Given the description of an element on the screen output the (x, y) to click on. 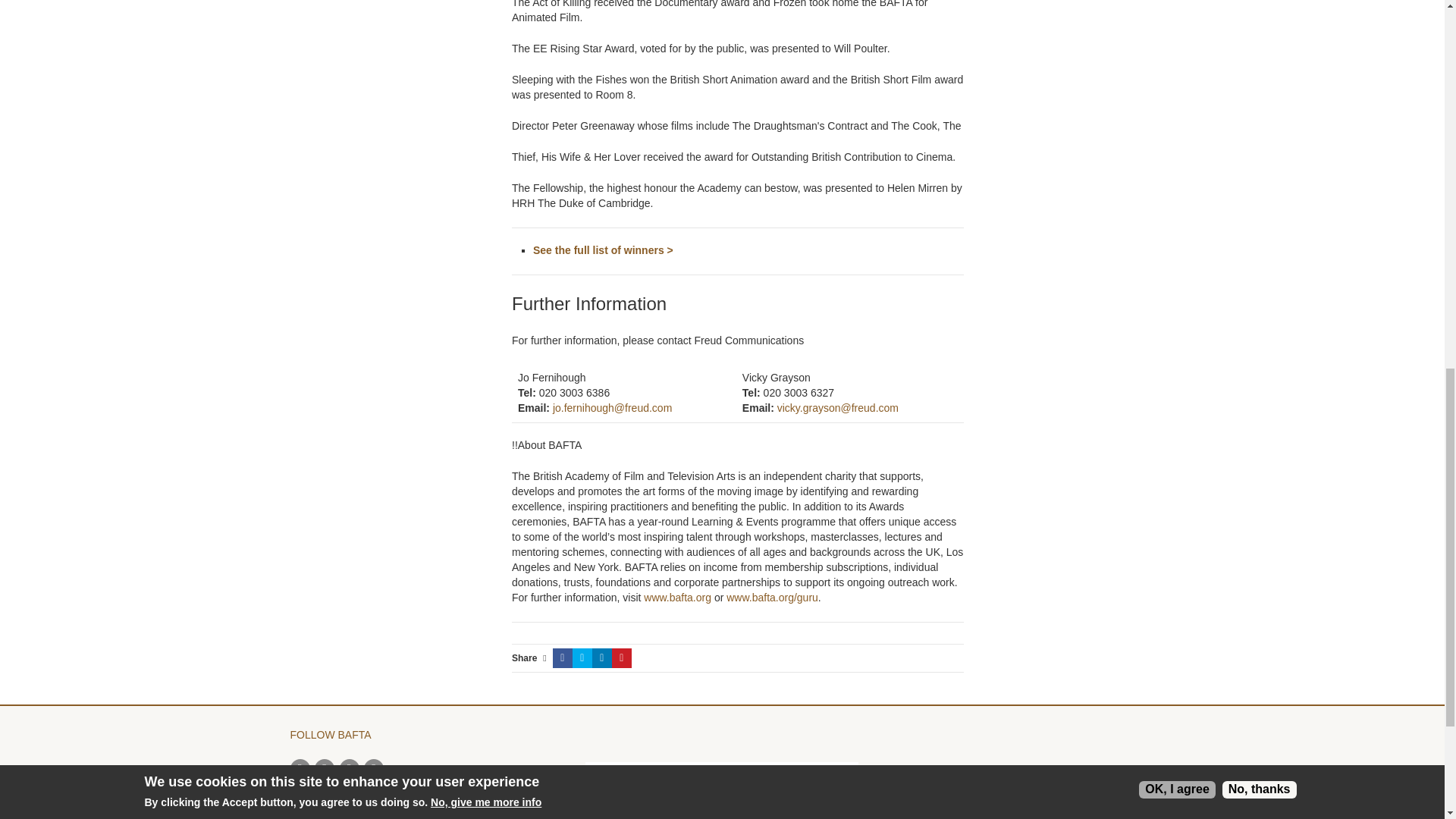
Share on Pinterest (621, 658)
Share on Facebook (562, 658)
Share on LinkedIn (601, 658)
Share on Twitter (582, 658)
